Given the description of an element on the screen output the (x, y) to click on. 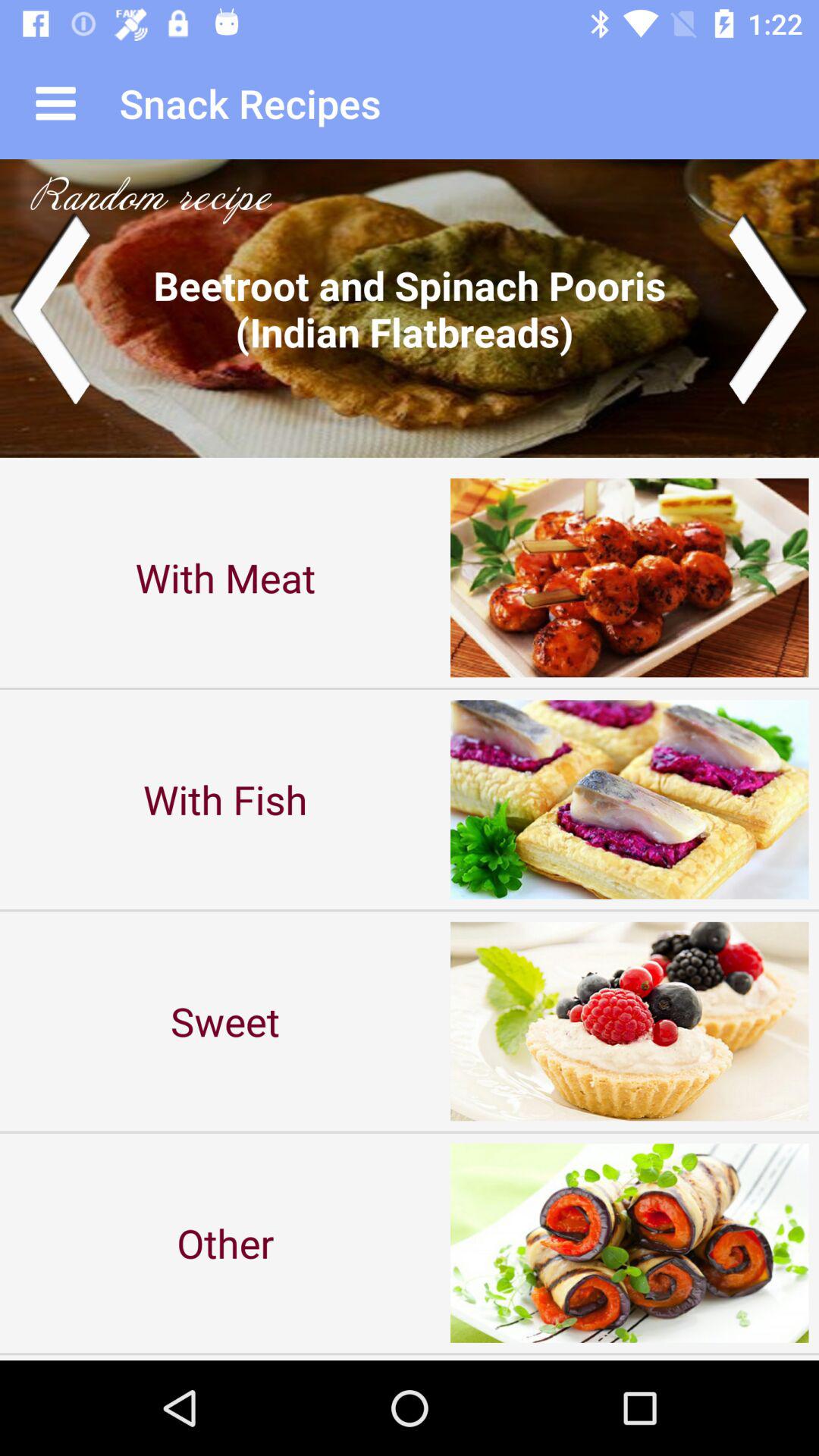
forward (769, 308)
